Given the description of an element on the screen output the (x, y) to click on. 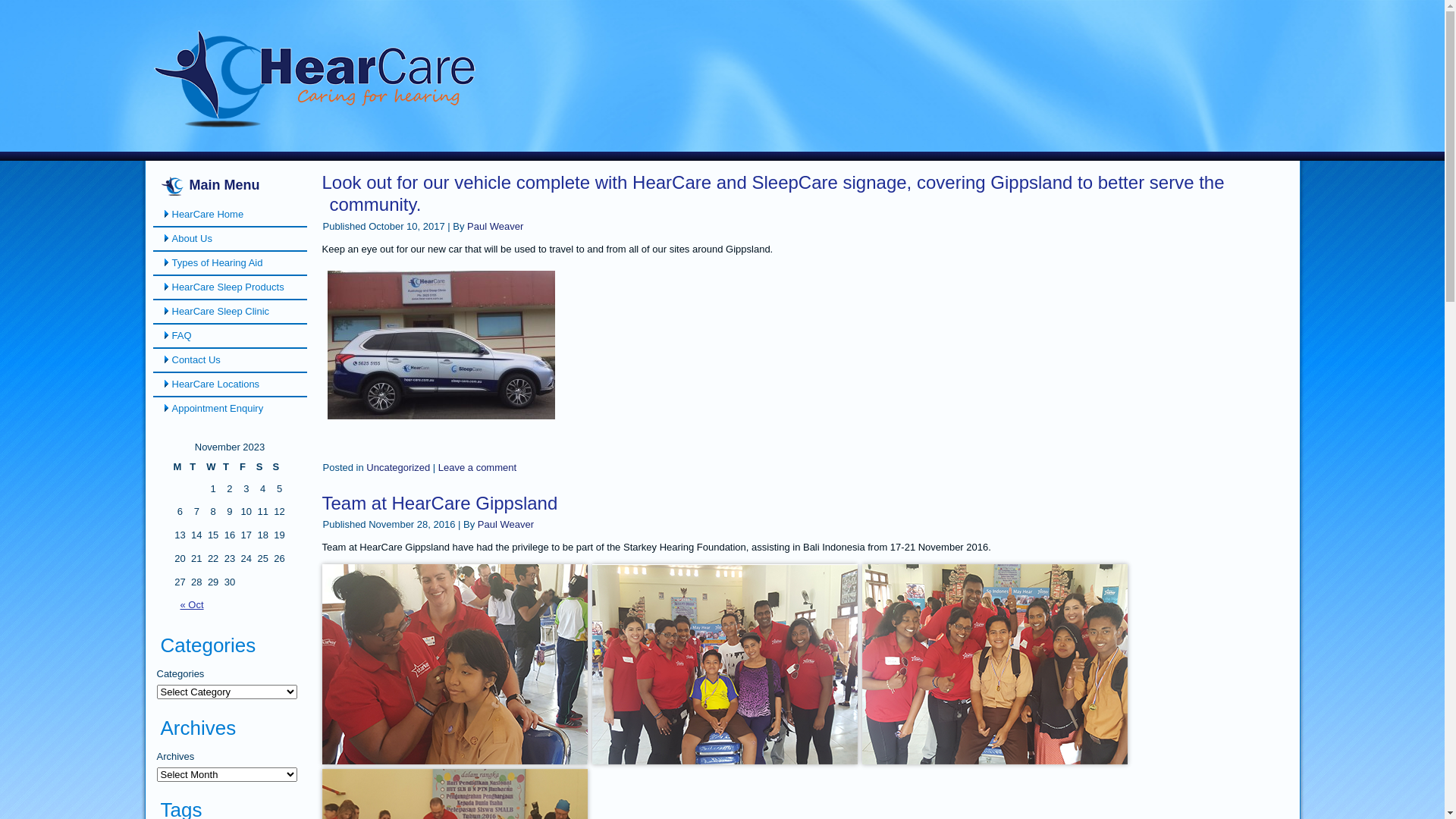
Team at HearCare Gippsland Element type: text (439, 502)
HearCare Sleep Products Element type: text (230, 287)
Contact Us Element type: text (230, 359)
About Us Element type: text (230, 238)
Types of Hearing Aid Element type: text (230, 262)
HearCare Sleep Clinic Element type: text (230, 311)
HearCare Home Element type: text (230, 214)
Appointment Enquiry Element type: text (230, 408)
Paul Weaver Element type: text (495, 226)
HearCare Locations Element type: text (230, 384)
Paul Weaver Element type: text (505, 524)
Leave a comment Element type: text (477, 467)
FAQ Element type: text (230, 335)
Uncategorized Element type: text (397, 467)
